Given the description of an element on the screen output the (x, y) to click on. 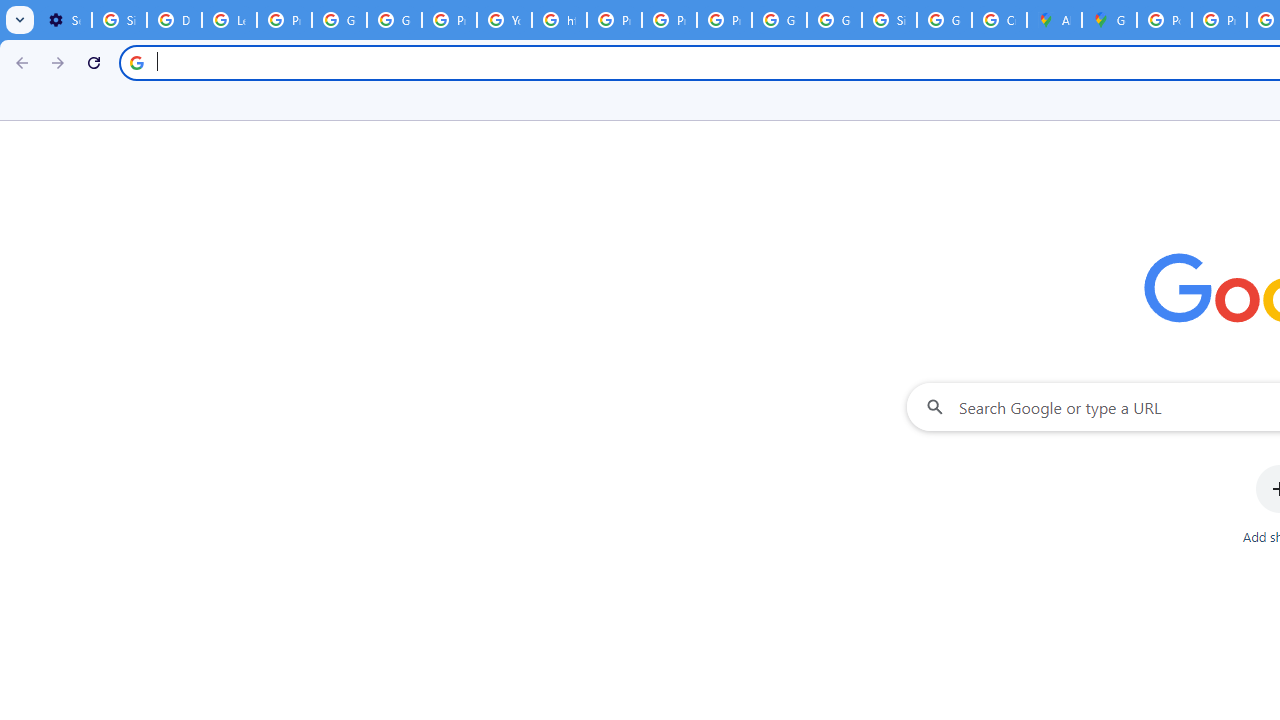
Delete photos & videos - Computer - Google Photos Help (174, 20)
Google Account Help (339, 20)
Create your Google Account (998, 20)
Settings - On startup (64, 20)
Privacy Help Center - Policies Help (1218, 20)
Policy Accountability and Transparency - Transparency Center (1163, 20)
